Given the description of an element on the screen output the (x, y) to click on. 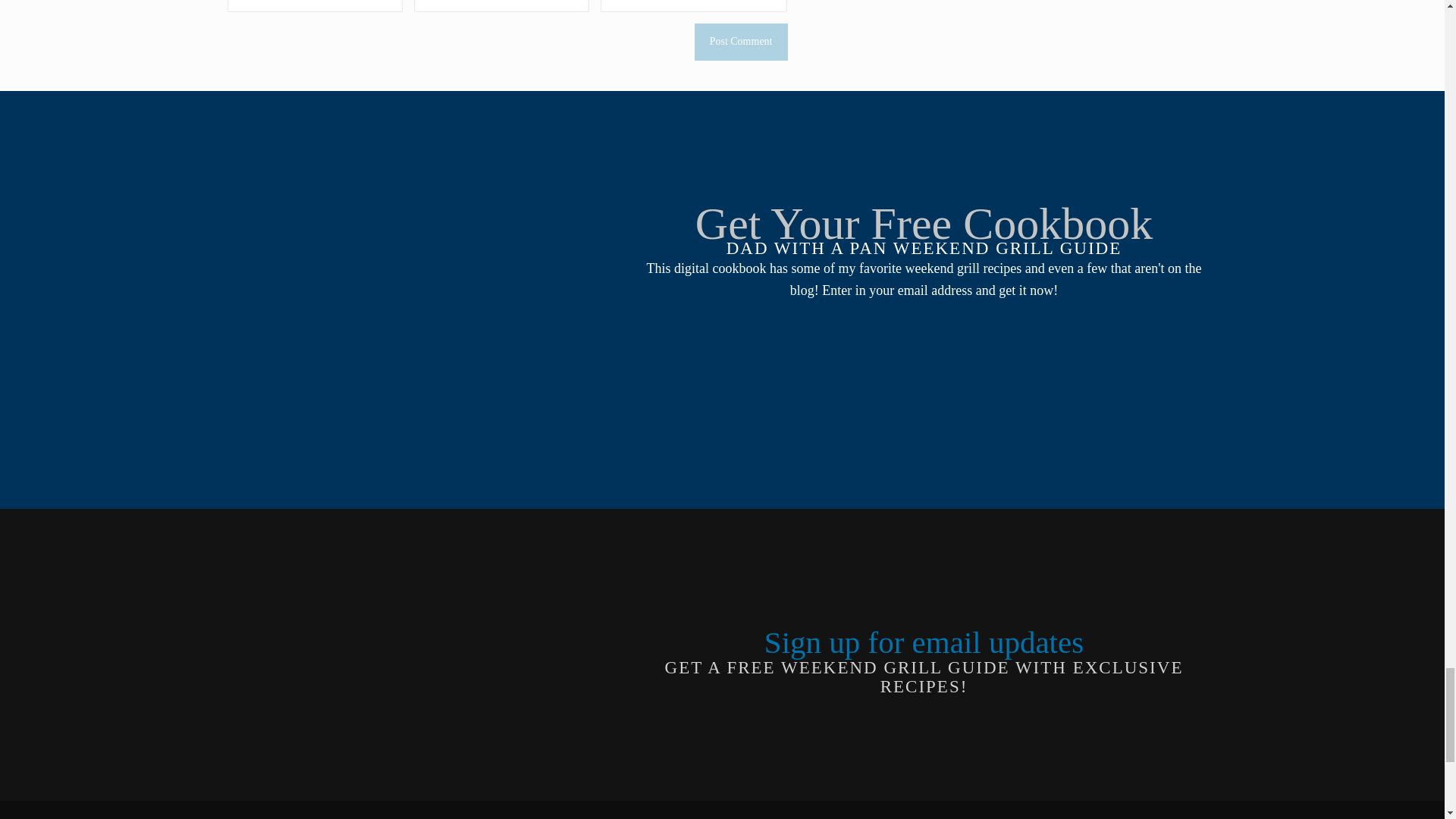
Post Comment (740, 41)
